Given the description of an element on the screen output the (x, y) to click on. 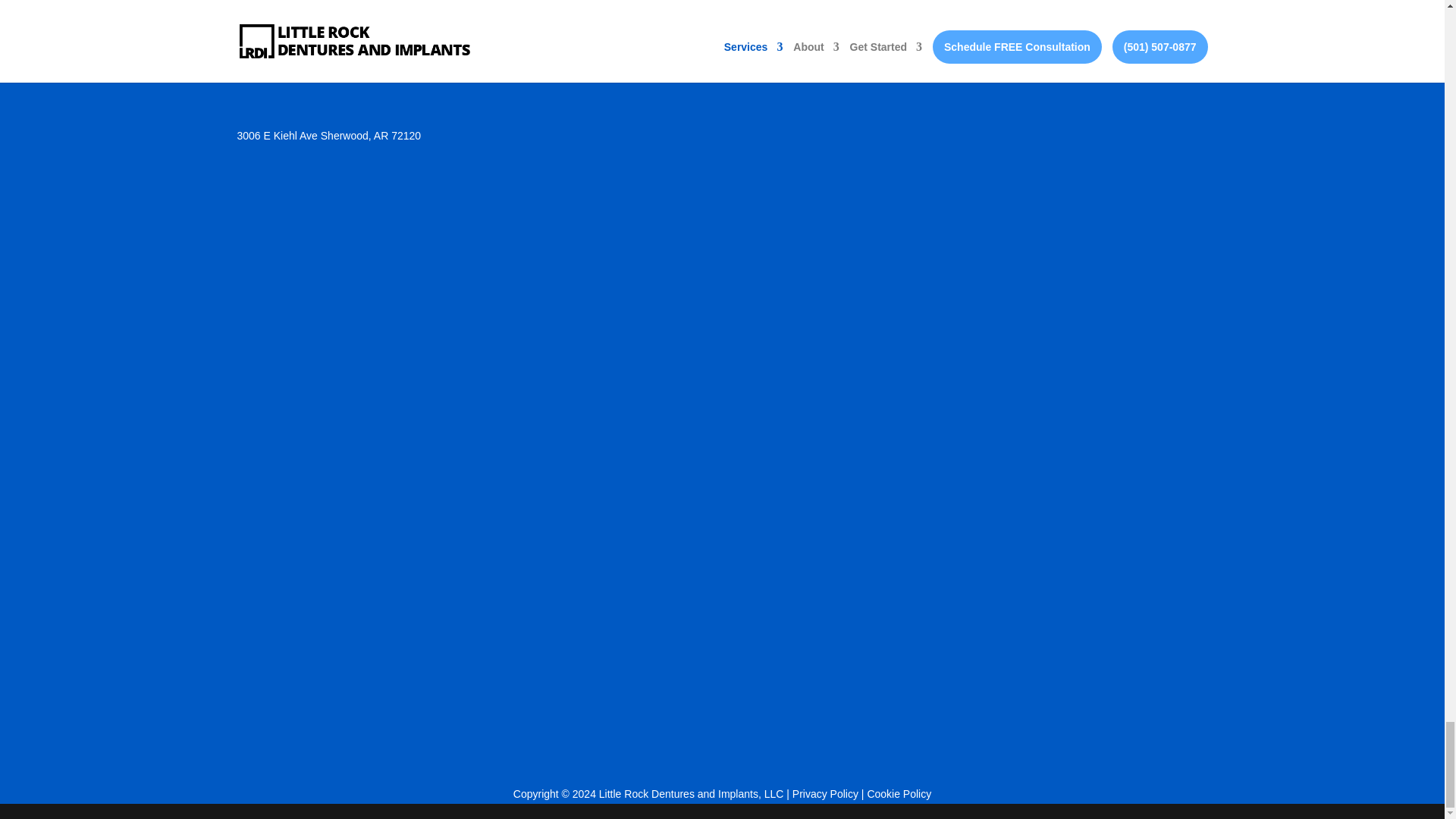
Privacy Policy (825, 793)
Cookie Policy (898, 793)
